Given the description of an element on the screen output the (x, y) to click on. 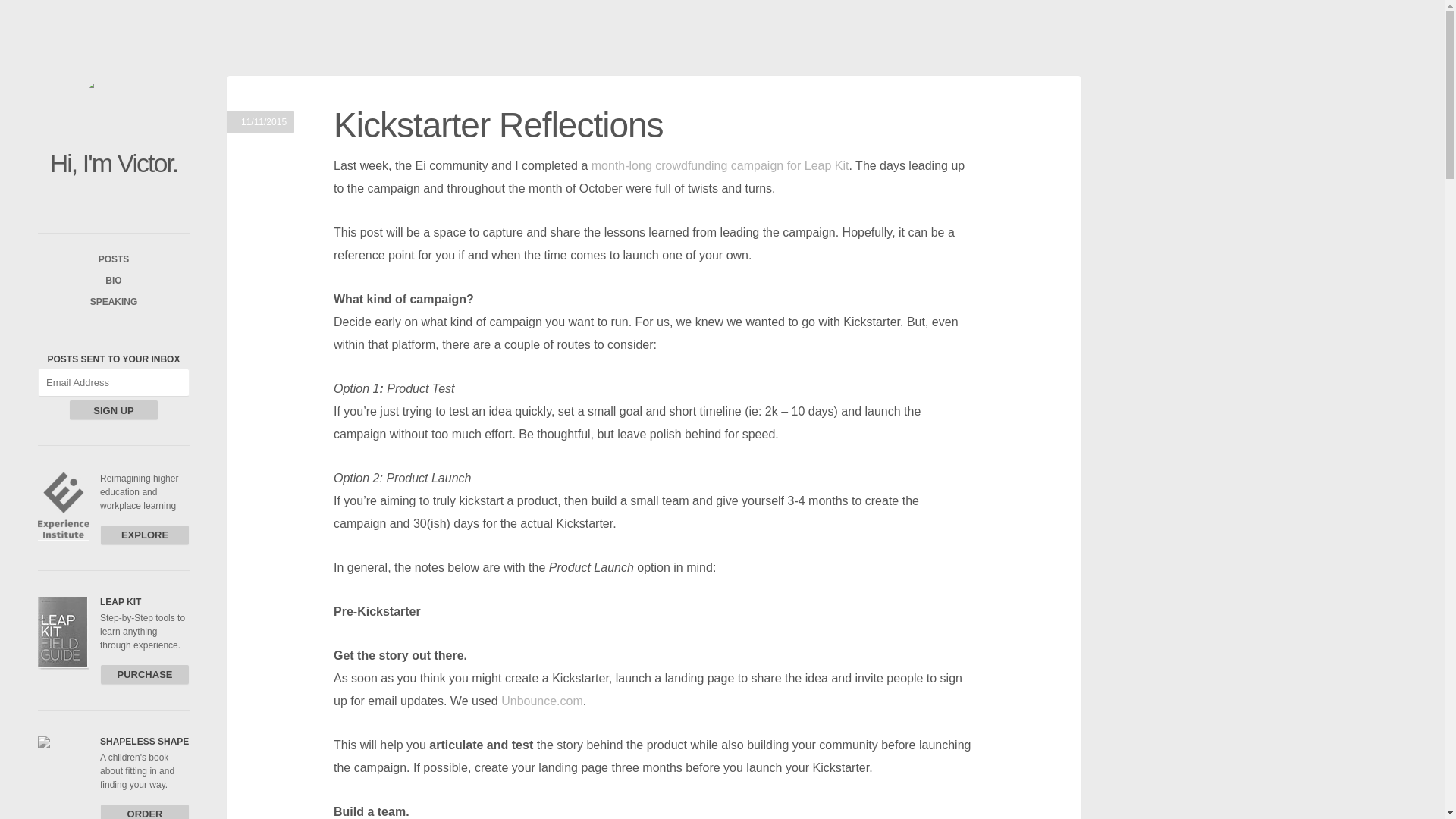
LEAP KIT (120, 602)
PURCHASE (144, 674)
Hi, I'm Victor. (113, 162)
month-long crowdfunding campaign for Leap Kit (719, 164)
Instagram (113, 203)
Hi, I'm Victor. (114, 108)
SPEAKING (113, 301)
BIO (113, 280)
Kickstarter Reflections (498, 124)
EXPLORE (144, 534)
Kickstarter Reflections (498, 124)
sign up (113, 409)
SHAPELESS SHAPE (144, 741)
ORDER (144, 811)
POSTS (113, 258)
